Given the description of an element on the screen output the (x, y) to click on. 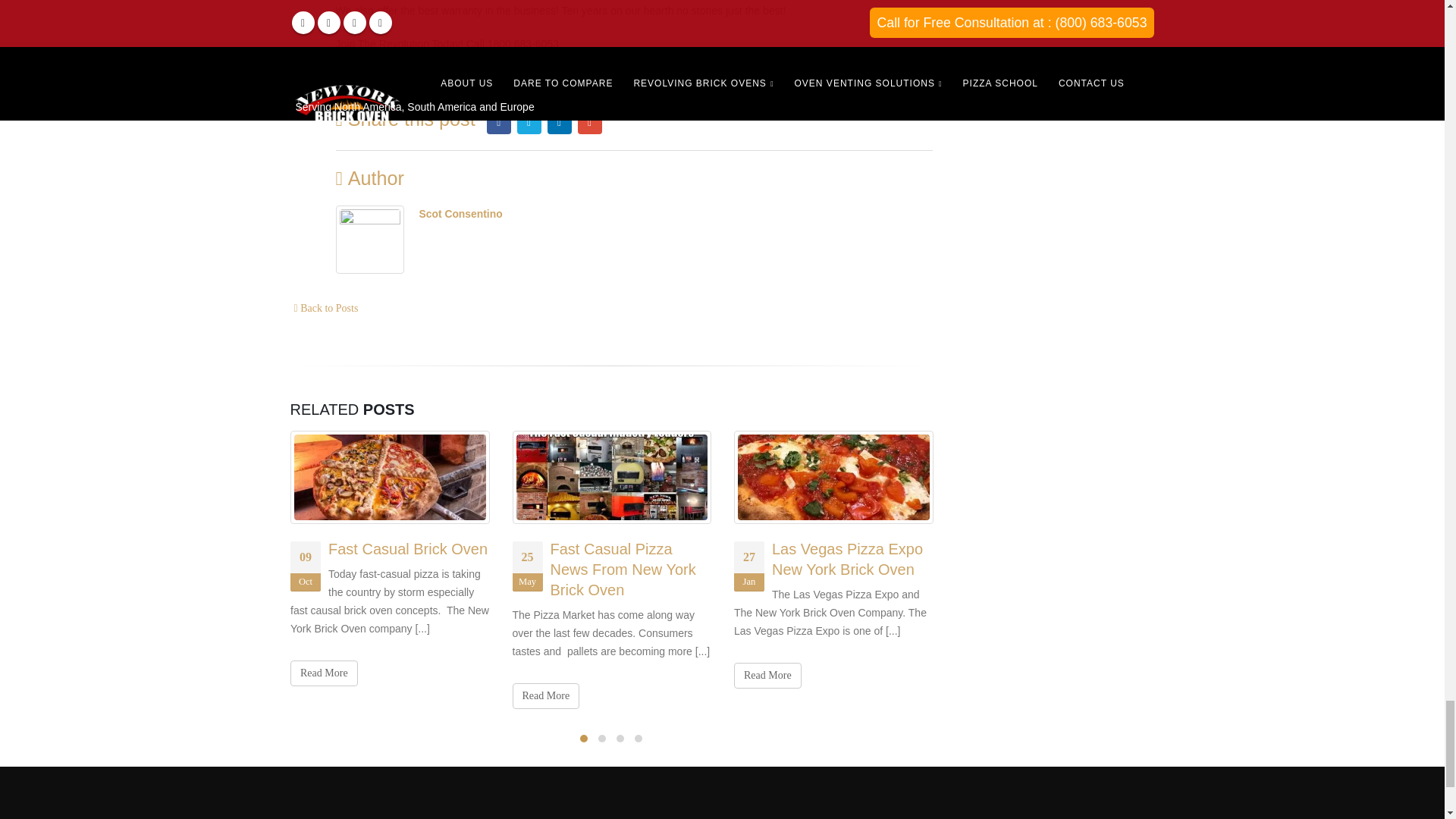
Tweet (571, 79)
Facebook Share (523, 79)
